Given the description of an element on the screen output the (x, y) to click on. 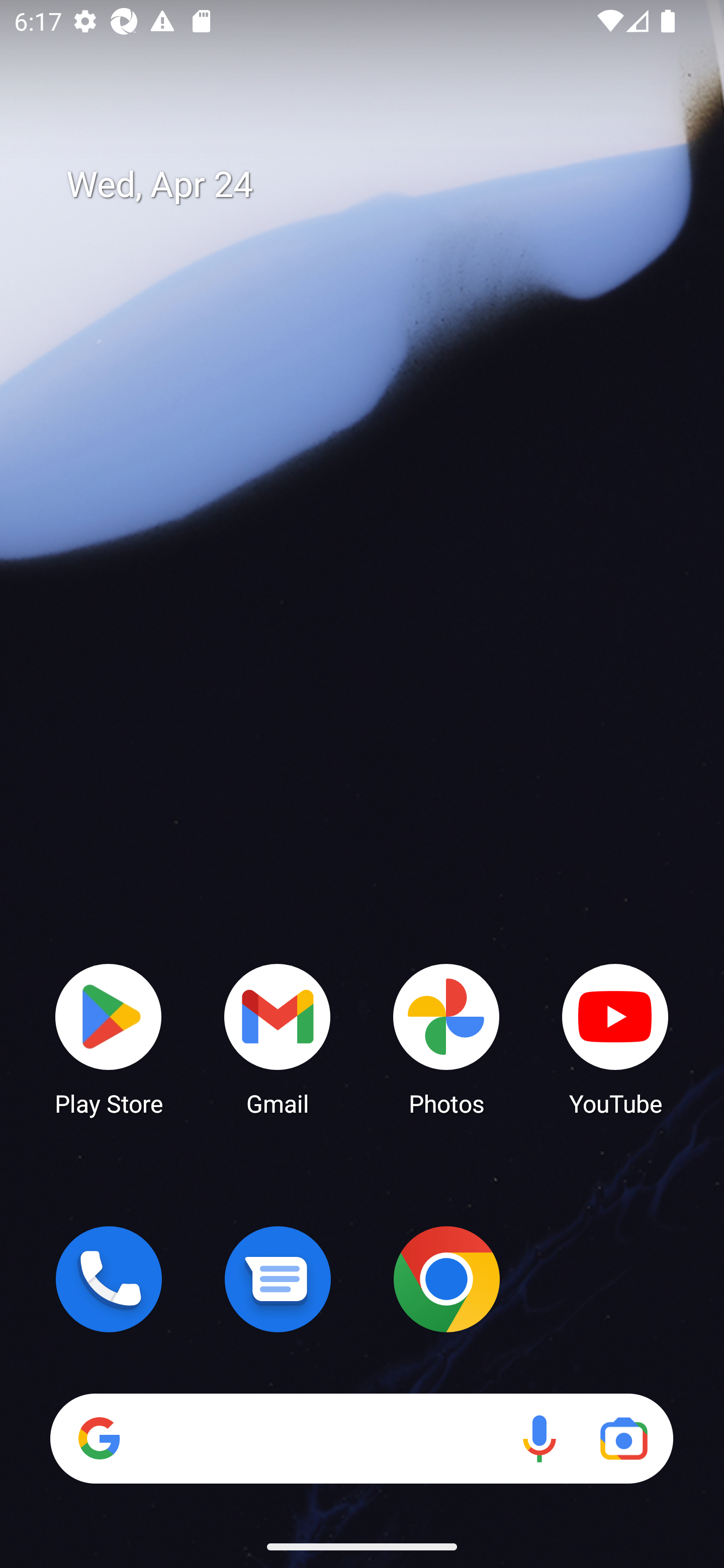
Wed, Apr 24 (375, 184)
Play Store (108, 1038)
Gmail (277, 1038)
Photos (445, 1038)
YouTube (615, 1038)
Phone (108, 1279)
Messages (277, 1279)
Chrome (446, 1279)
Search Voice search Google Lens (361, 1438)
Voice search (539, 1438)
Google Lens (623, 1438)
